Given the description of an element on the screen output the (x, y) to click on. 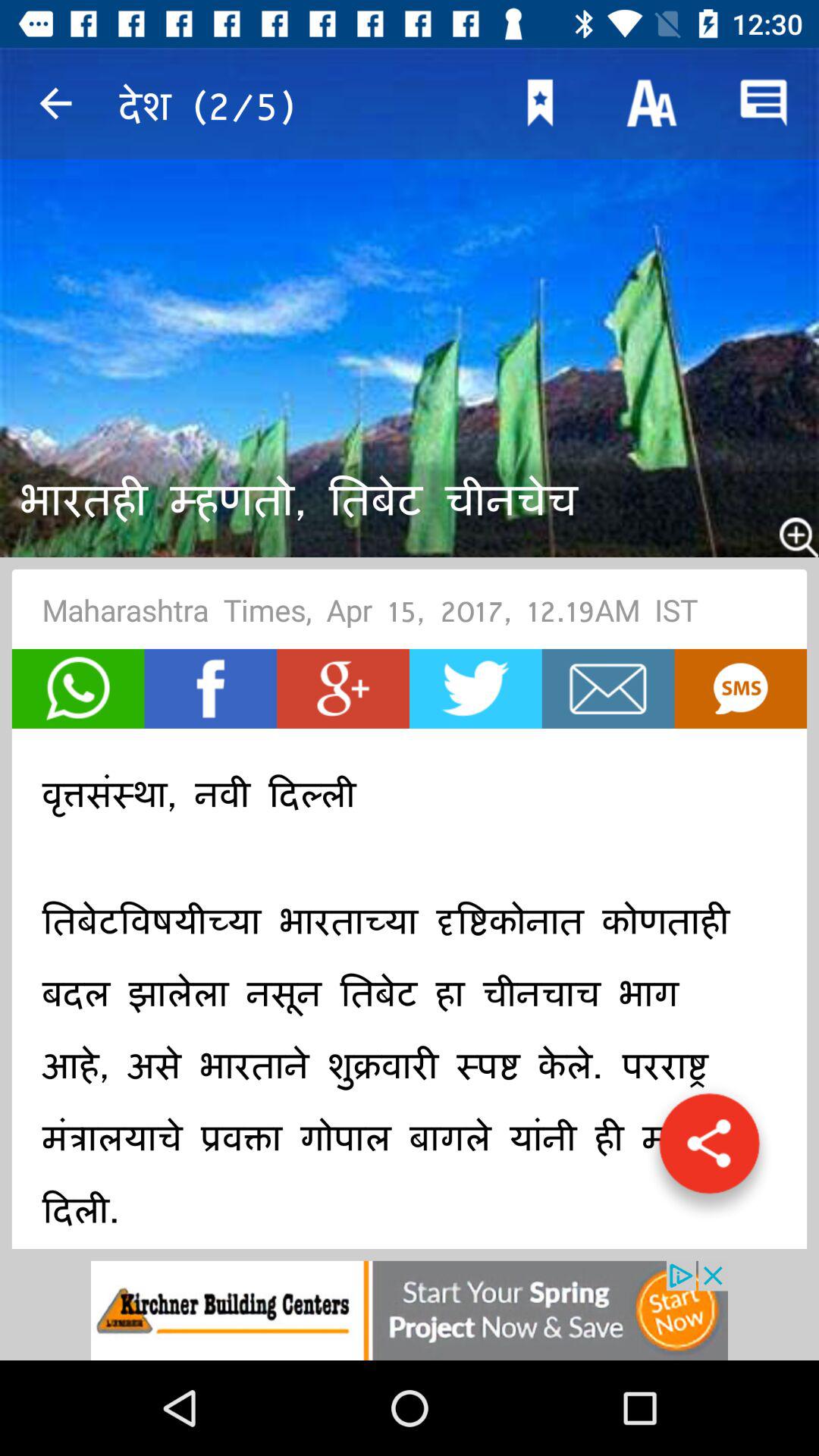
go to previous page (55, 103)
